Given the description of an element on the screen output the (x, y) to click on. 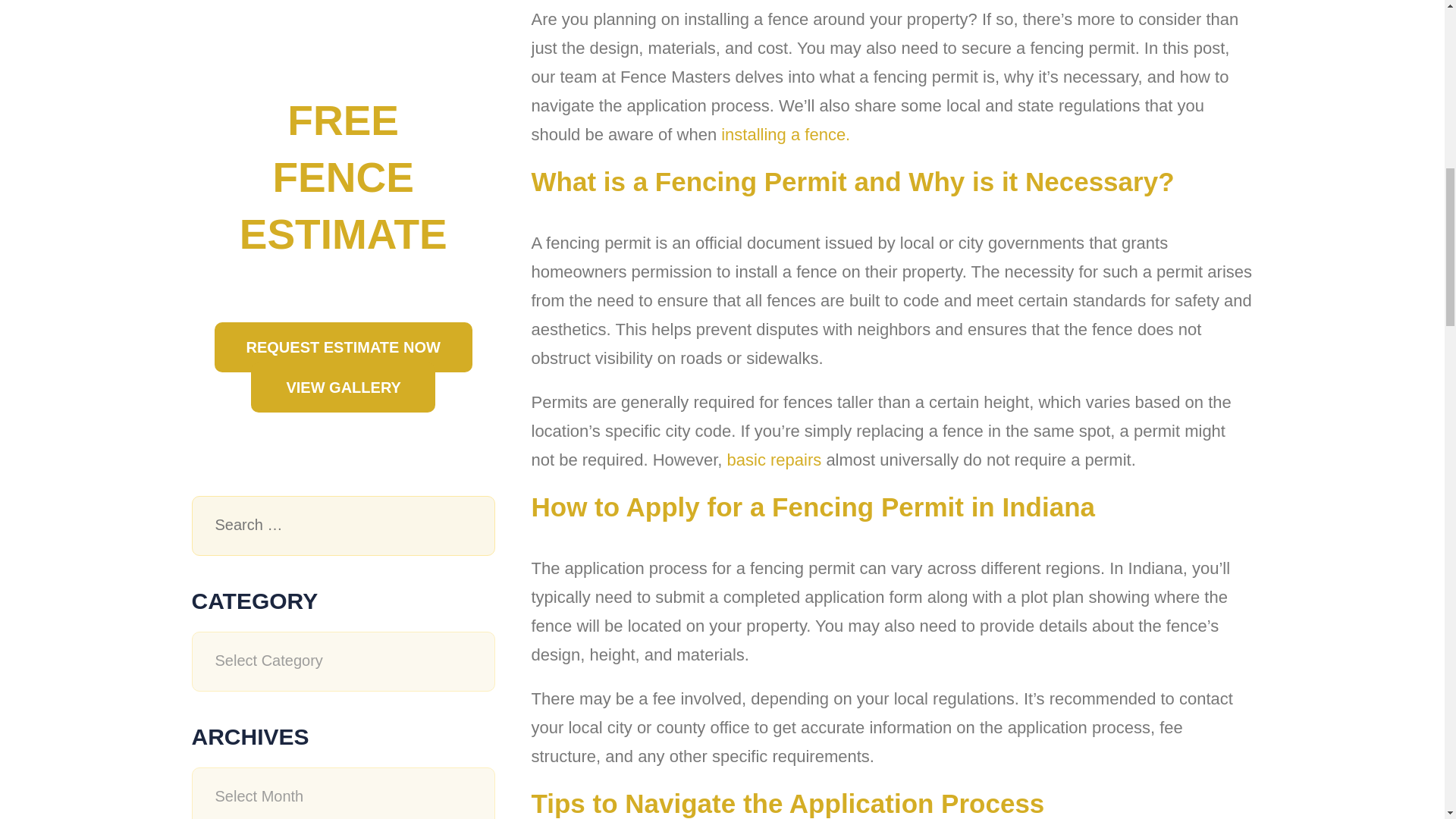
Search (467, 525)
Search (467, 525)
